Given the description of an element on the screen output the (x, y) to click on. 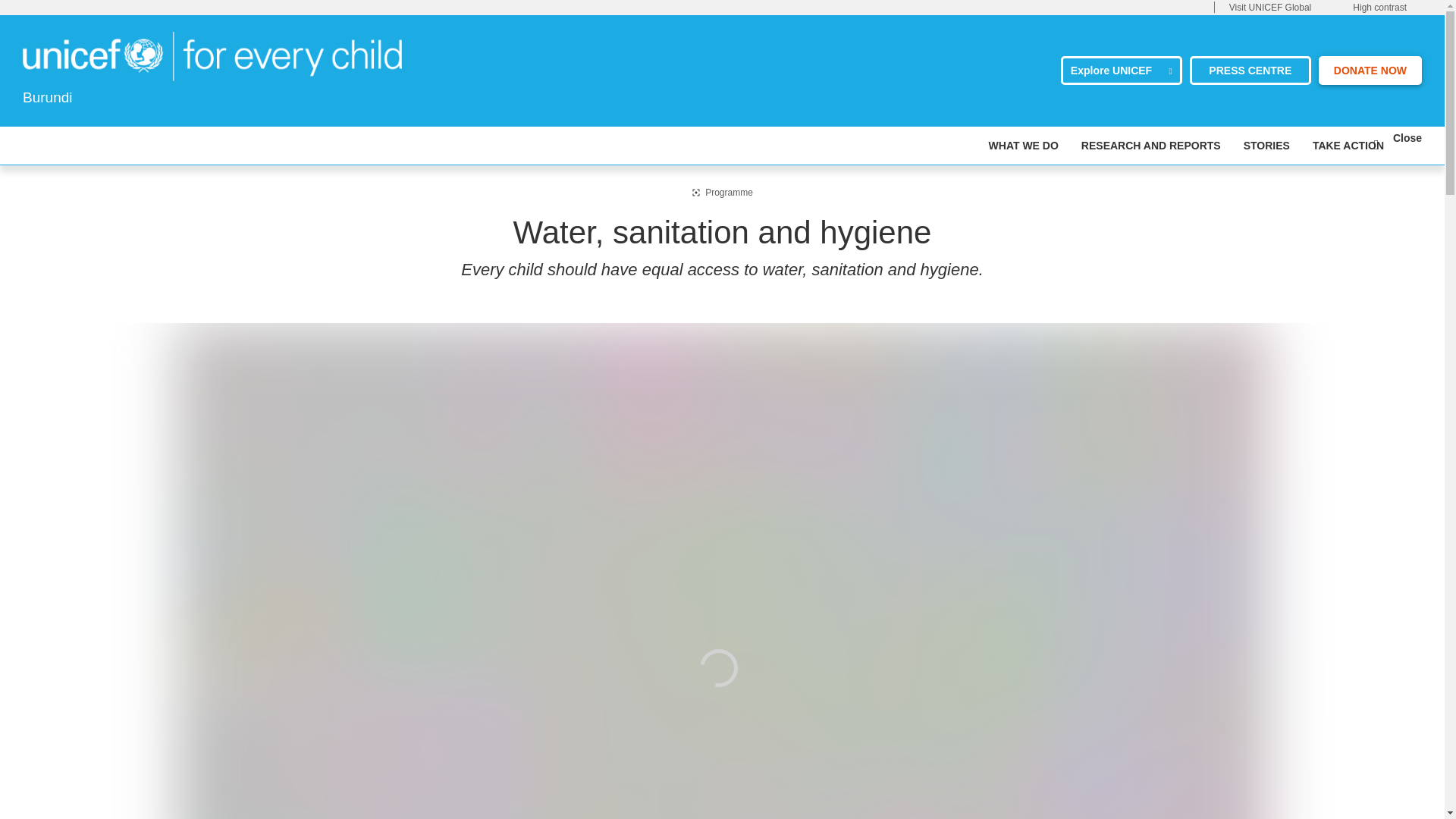
STORIES (1266, 145)
TAKE ACTION (1348, 145)
Visit UNICEF Global (1269, 7)
RESEARCH AND REPORTS (1151, 145)
High contrast (1379, 7)
Burundi (212, 56)
Explore UNICEF (1121, 70)
DONATE NOW (1370, 70)
WHAT WE DO (1023, 145)
PRESS CENTRE (1250, 70)
UNICEF (212, 54)
Explore UNICEF (1121, 70)
